Given the description of an element on the screen output the (x, y) to click on. 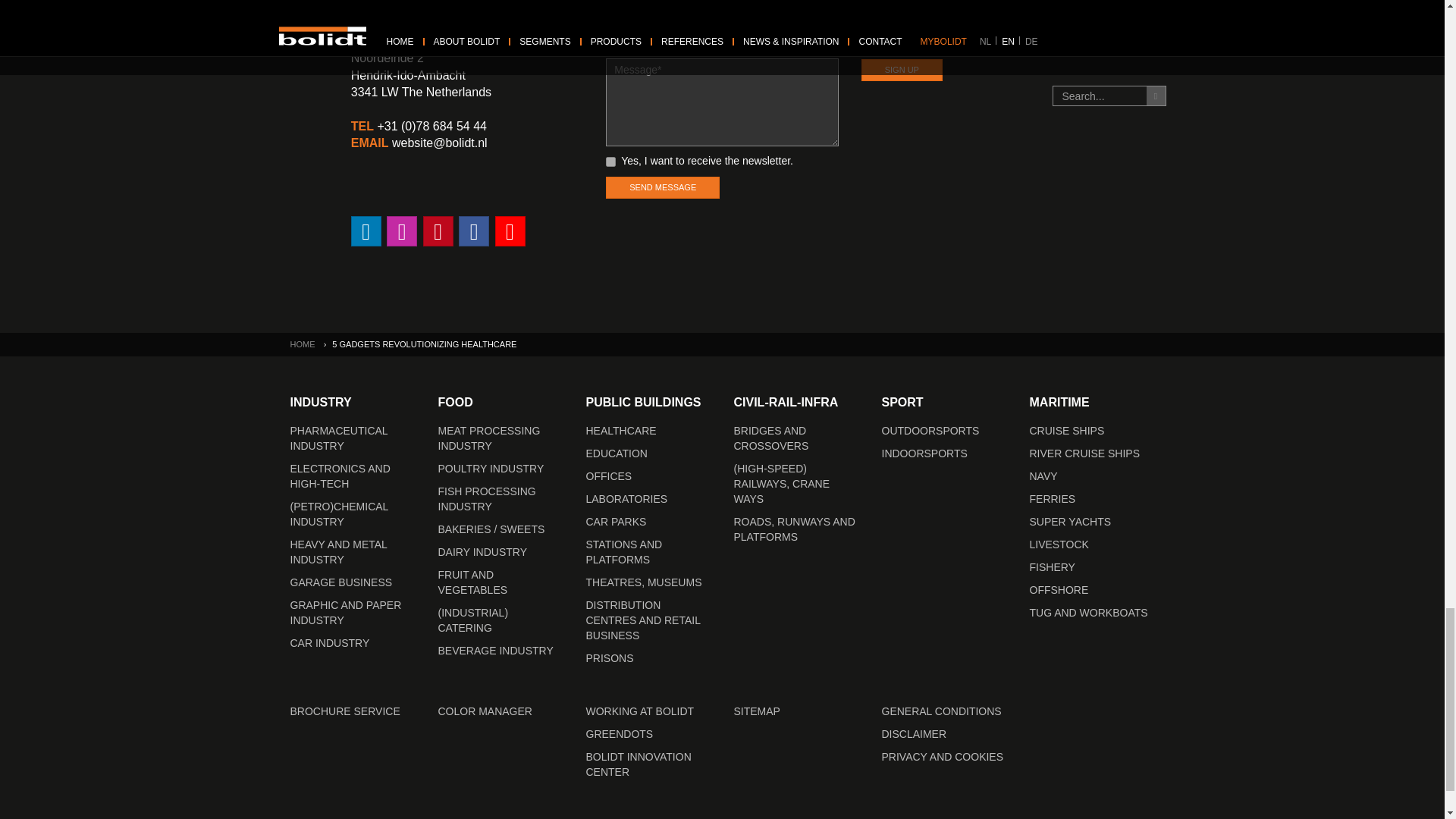
j (610, 162)
Send message (662, 187)
Sign up (901, 69)
